Given the description of an element on the screen output the (x, y) to click on. 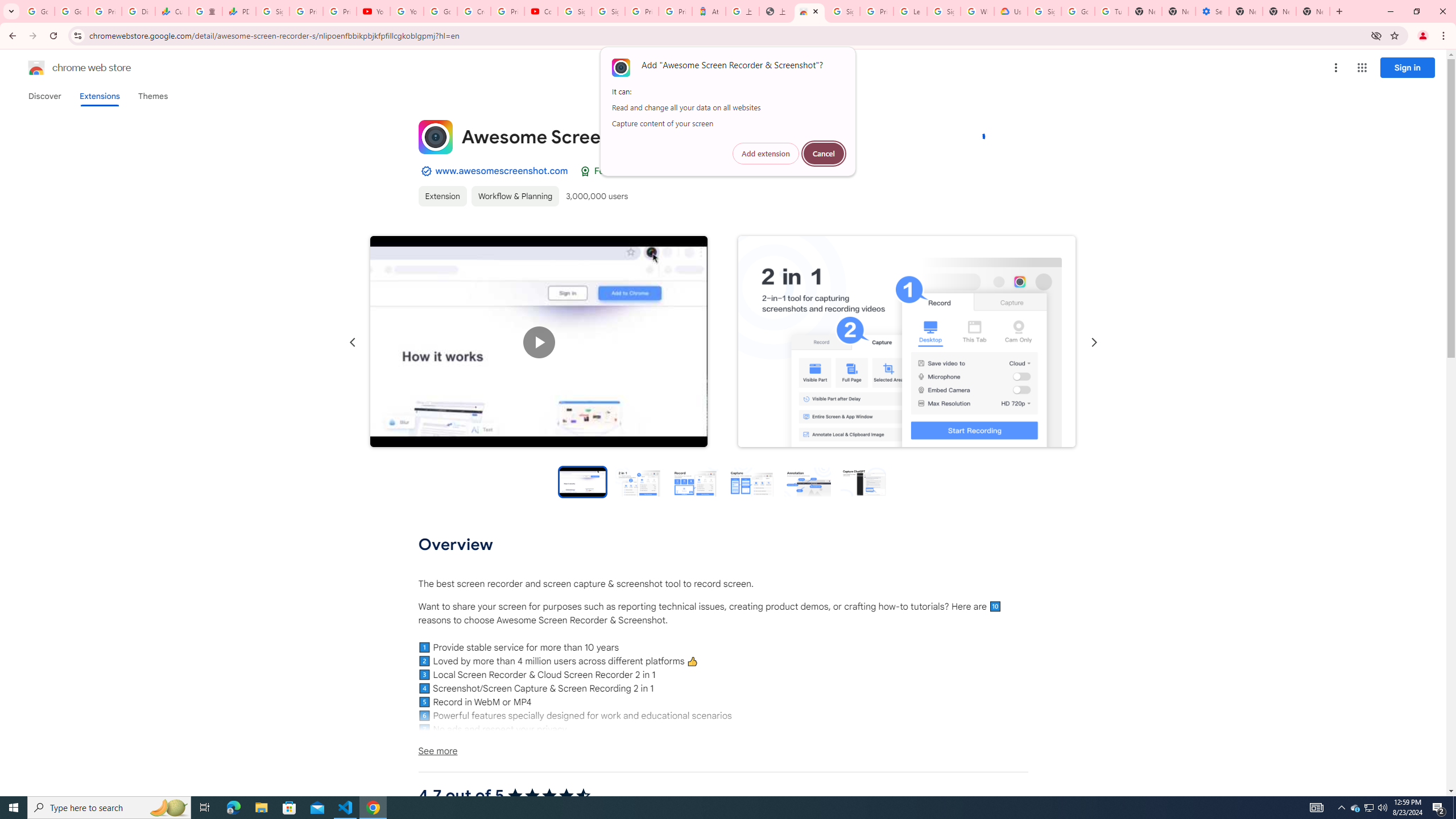
Who are Google's partners? - Privacy and conditions - Google (976, 11)
Google Account Help (1077, 11)
4.7 out of 5 stars (549, 795)
Item media 2 screenshot (906, 341)
Item media 1 video (538, 342)
Type here to search (108, 807)
See more (722, 751)
Preview slide 2 (638, 481)
Content Creator Programs & Opportunities - YouTube Creators (541, 11)
